Given the description of an element on the screen output the (x, y) to click on. 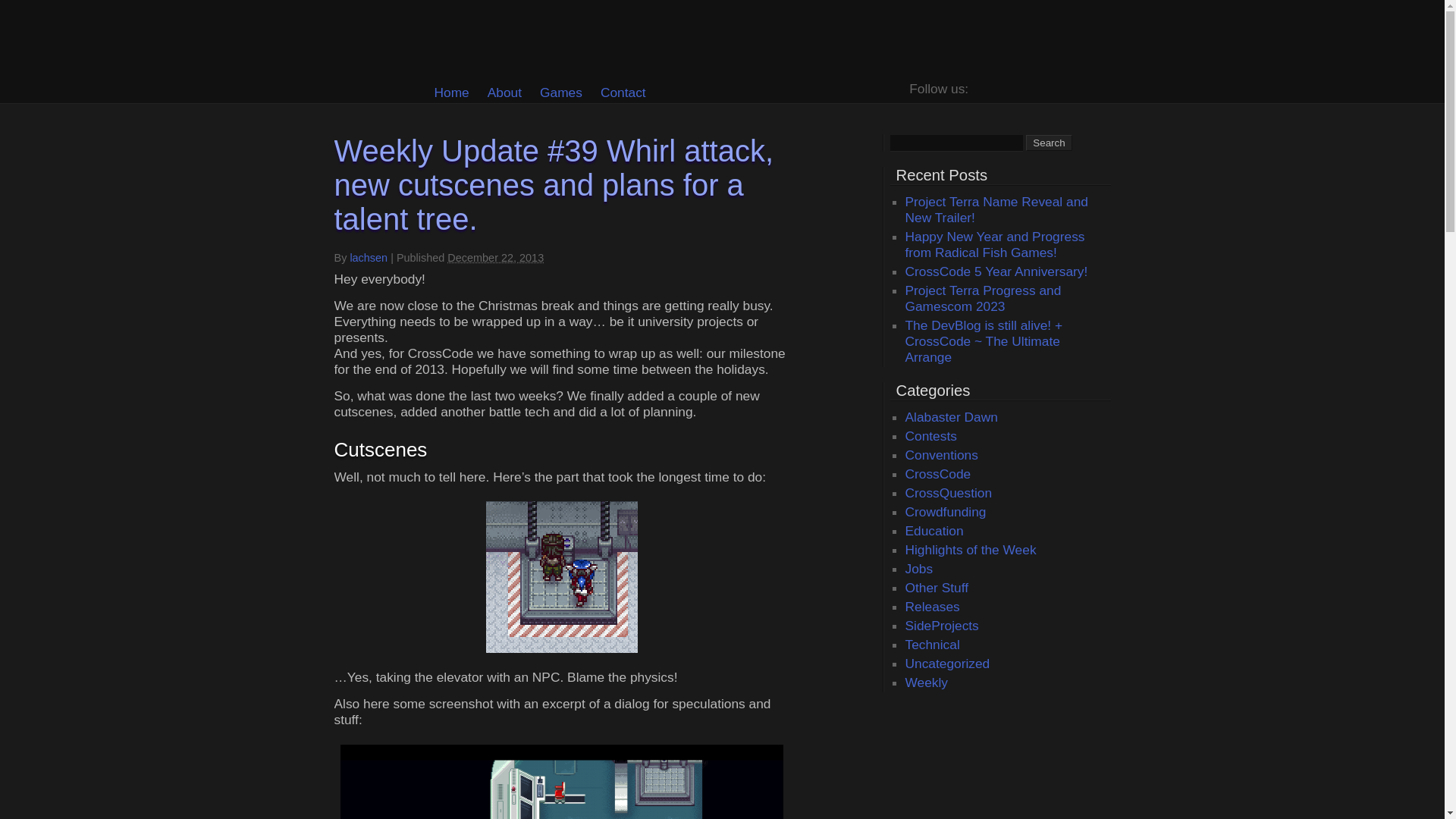
Games (561, 92)
Home (451, 92)
Happy New Year and Progress from Radical Fish Games! (994, 244)
Project Terra Name Reveal and New Trailer! (996, 209)
Project Terra Progress and Gamescom 2023 (983, 297)
Search (1048, 142)
Alabaster Dawn (951, 417)
Our new game, formerly known as "Project Terra" (951, 417)
lachsen (368, 257)
CrossCode 5 Year Anniversary! (996, 271)
